Given the description of an element on the screen output the (x, y) to click on. 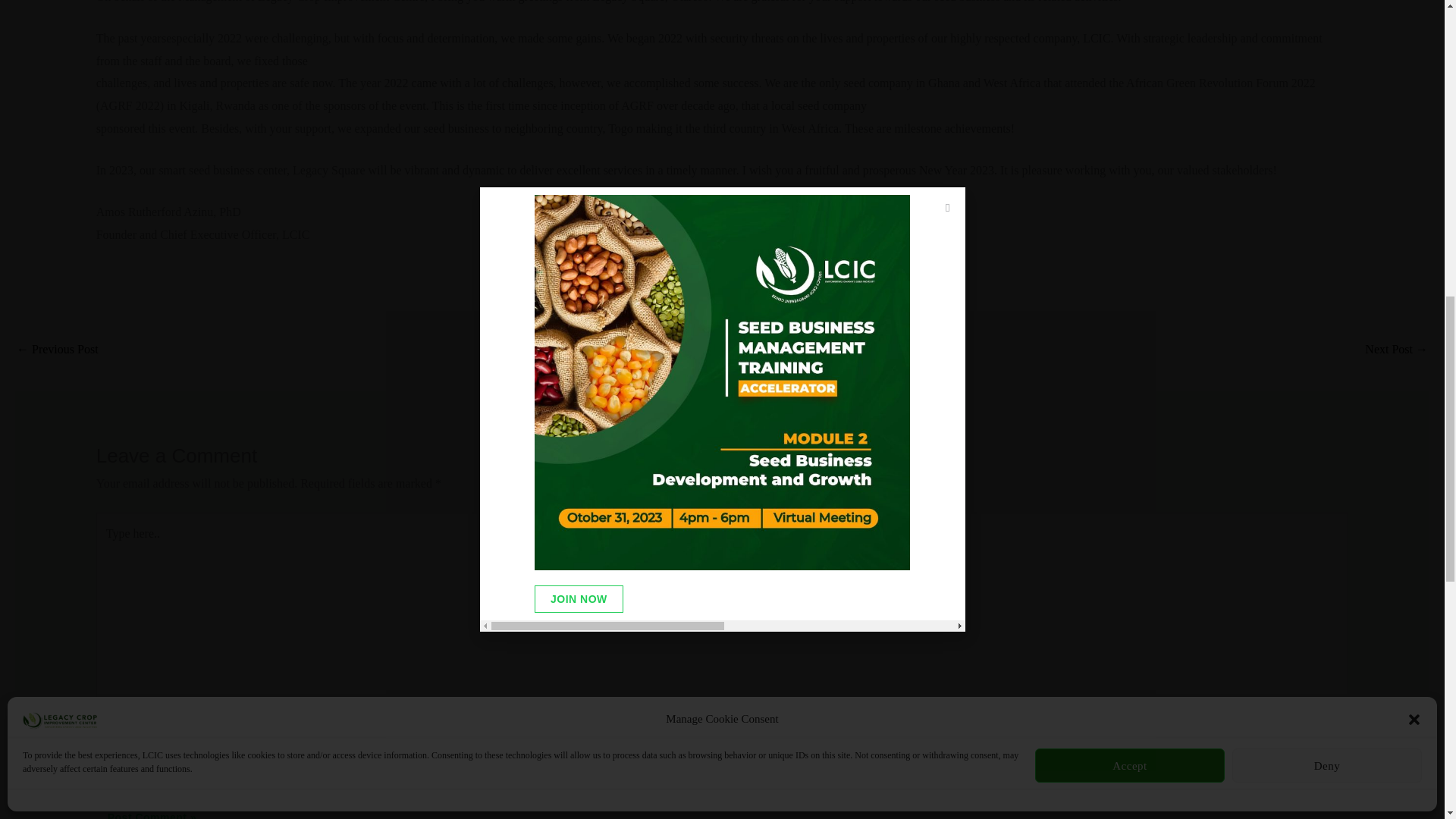
SEED BUSINESS MANAGEMENT TRAINING (1396, 350)
Saviour Dzidzienyo (57, 350)
